Given the description of an element on the screen output the (x, y) to click on. 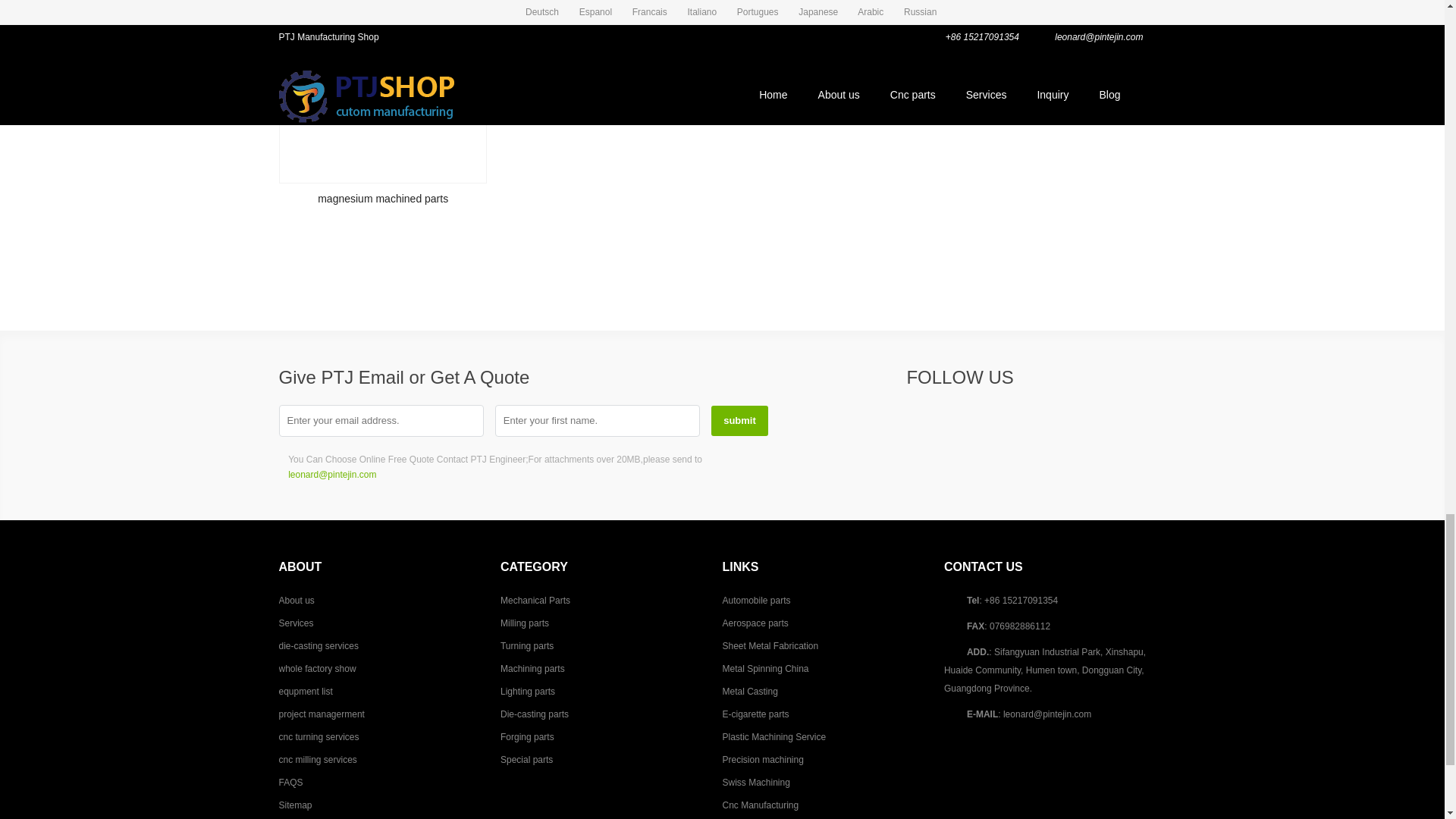
submit (739, 420)
magnesium machined parts (382, 110)
magnesium machined parts (383, 91)
